Given the description of an element on the screen output the (x, y) to click on. 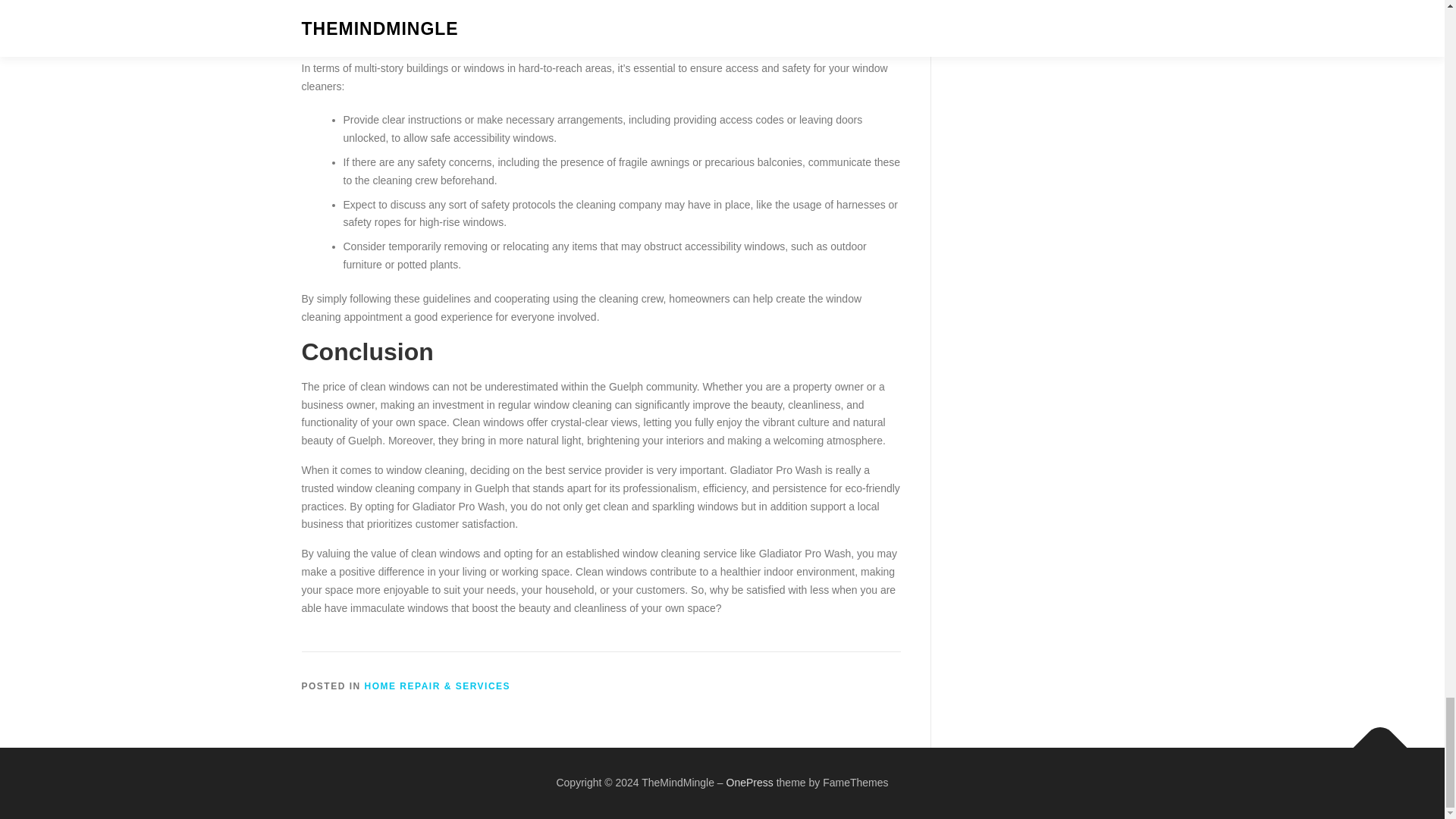
Back To Top (1372, 739)
